Given the description of an element on the screen output the (x, y) to click on. 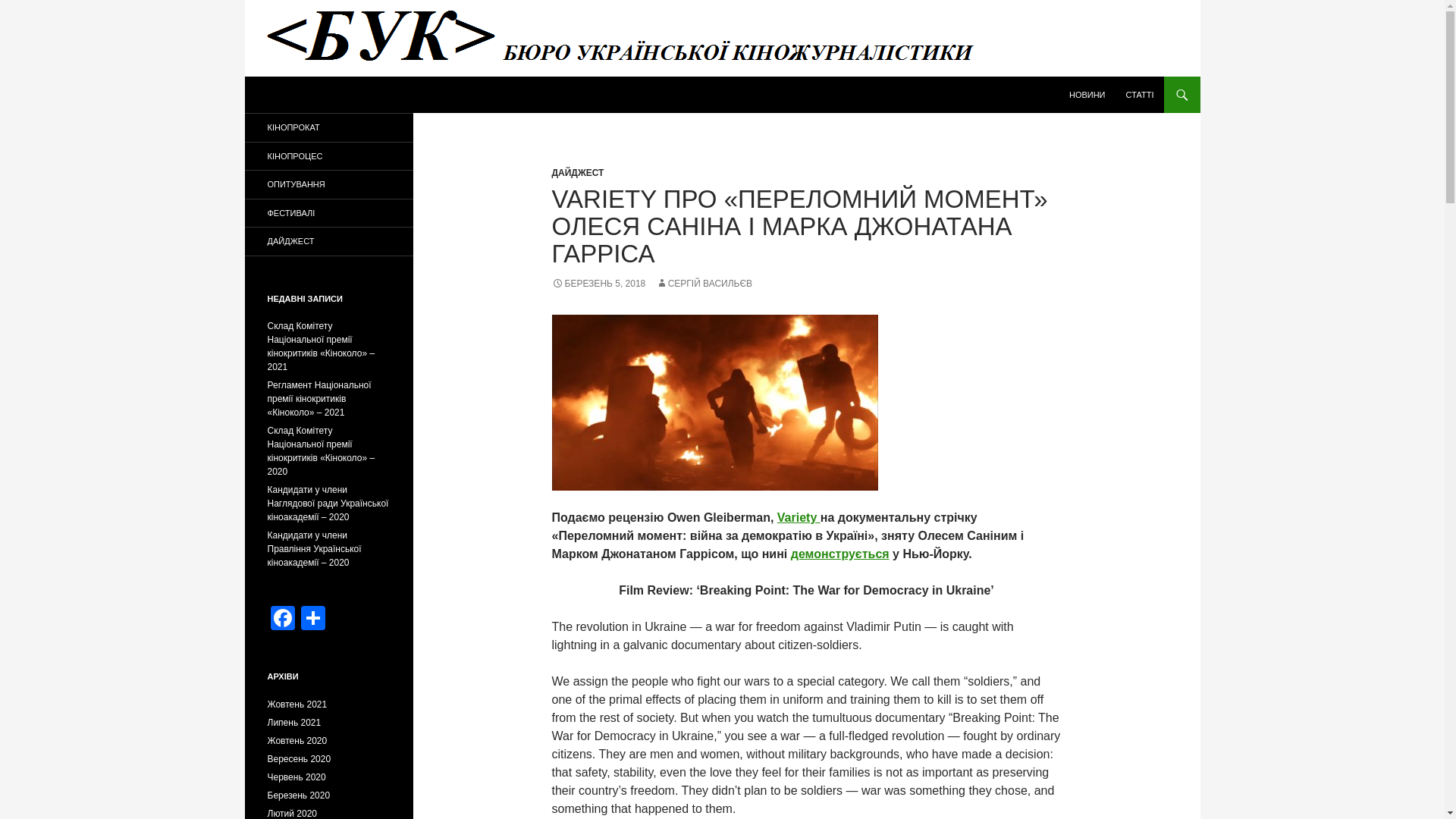
Variety (799, 517)
Facebook (281, 619)
Facebook (281, 619)
